Given the description of an element on the screen output the (x, y) to click on. 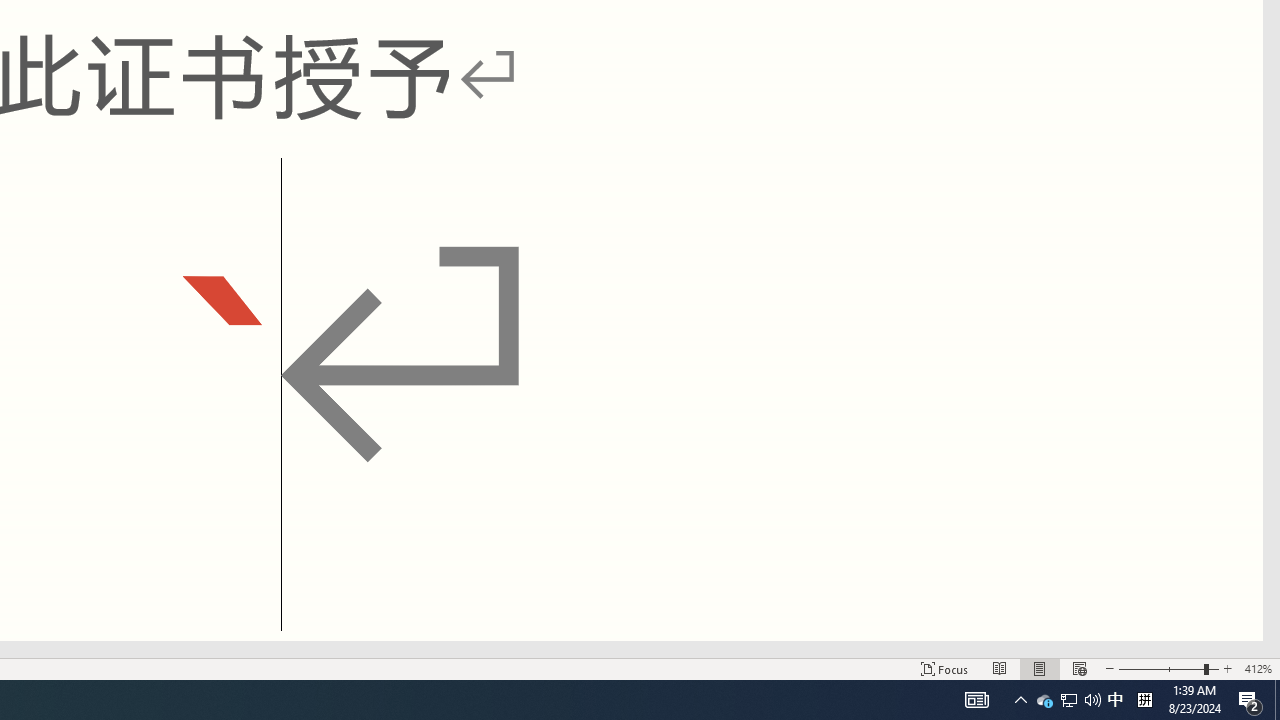
Zoom 412% (1258, 668)
